Given the description of an element on the screen output the (x, y) to click on. 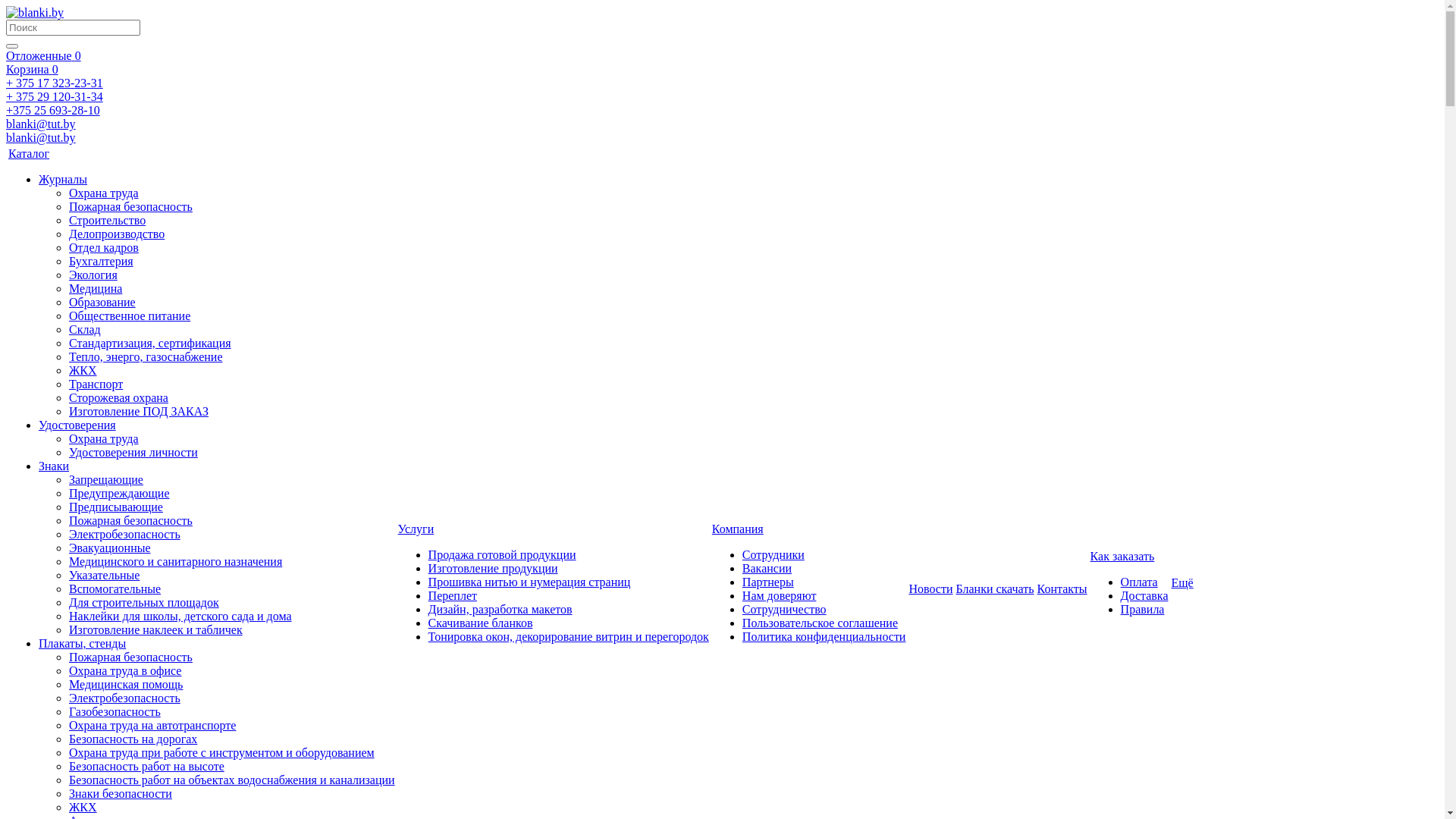
blanki.by Element type: hover (34, 12)
+ 375 17 323-23-31 Element type: text (54, 82)
+375 25 693-28-10 Element type: text (53, 109)
+ 375 29 120-31-34 Element type: text (54, 96)
blanki@tut.by Element type: text (40, 123)
blanki@tut.by Element type: text (40, 137)
